Given the description of an element on the screen output the (x, y) to click on. 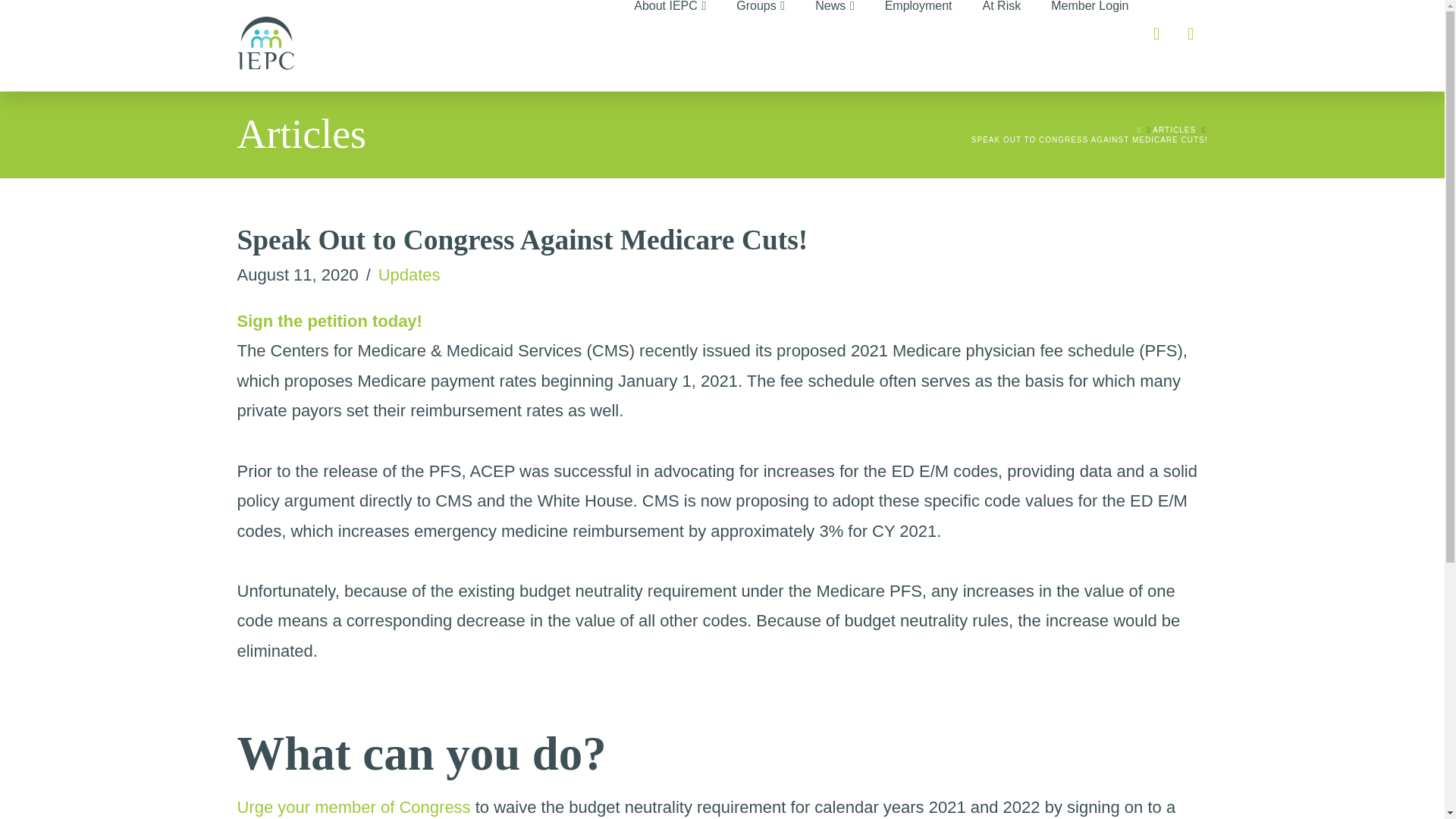
You Are Here (1089, 139)
Employment (918, 45)
ARTICLES (1174, 130)
Urge your member of Congress (352, 806)
Updates (409, 274)
Sign the petition today! (328, 321)
Member Login (1081, 45)
SPEAK OUT TO CONGRESS AGAINST MEDICARE CUTS! (1089, 139)
About IEPC (669, 45)
Facebook (1155, 33)
